Given the description of an element on the screen output the (x, y) to click on. 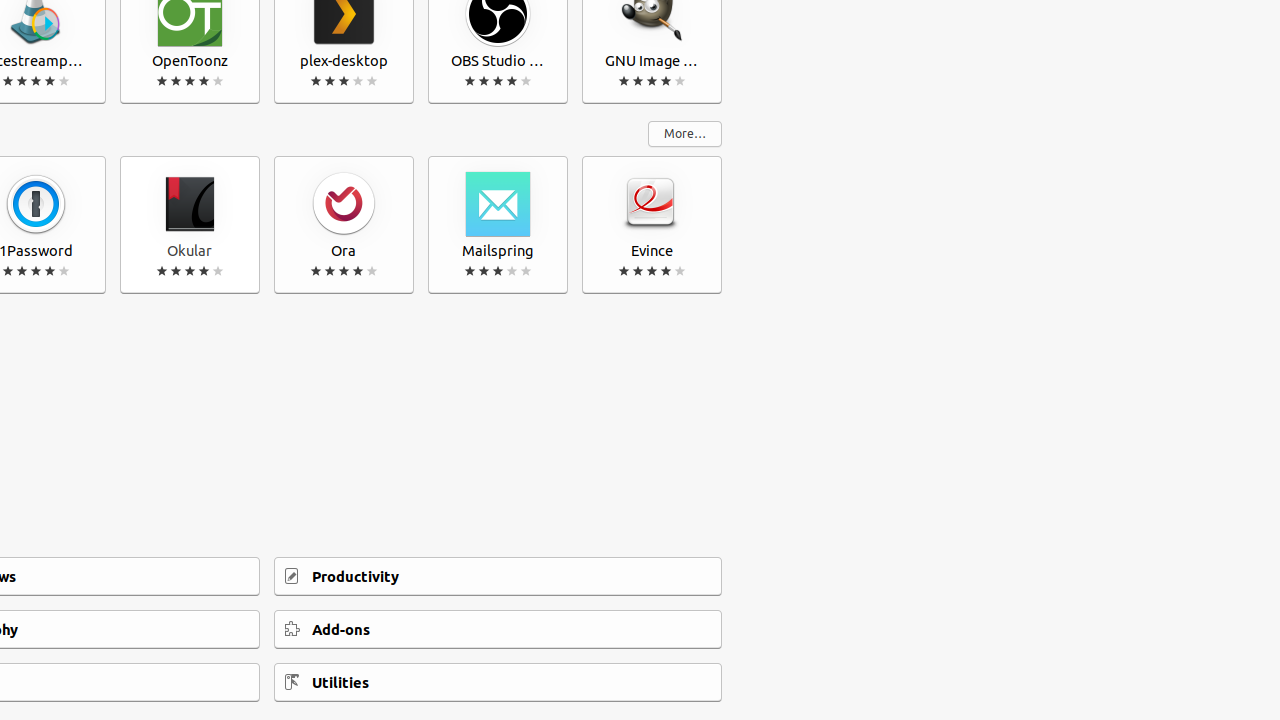
Productivity Element type: push-button (498, 576)
More… Element type: push-button (685, 134)
Mailspring Element type: push-button (498, 225)
